Given the description of an element on the screen output the (x, y) to click on. 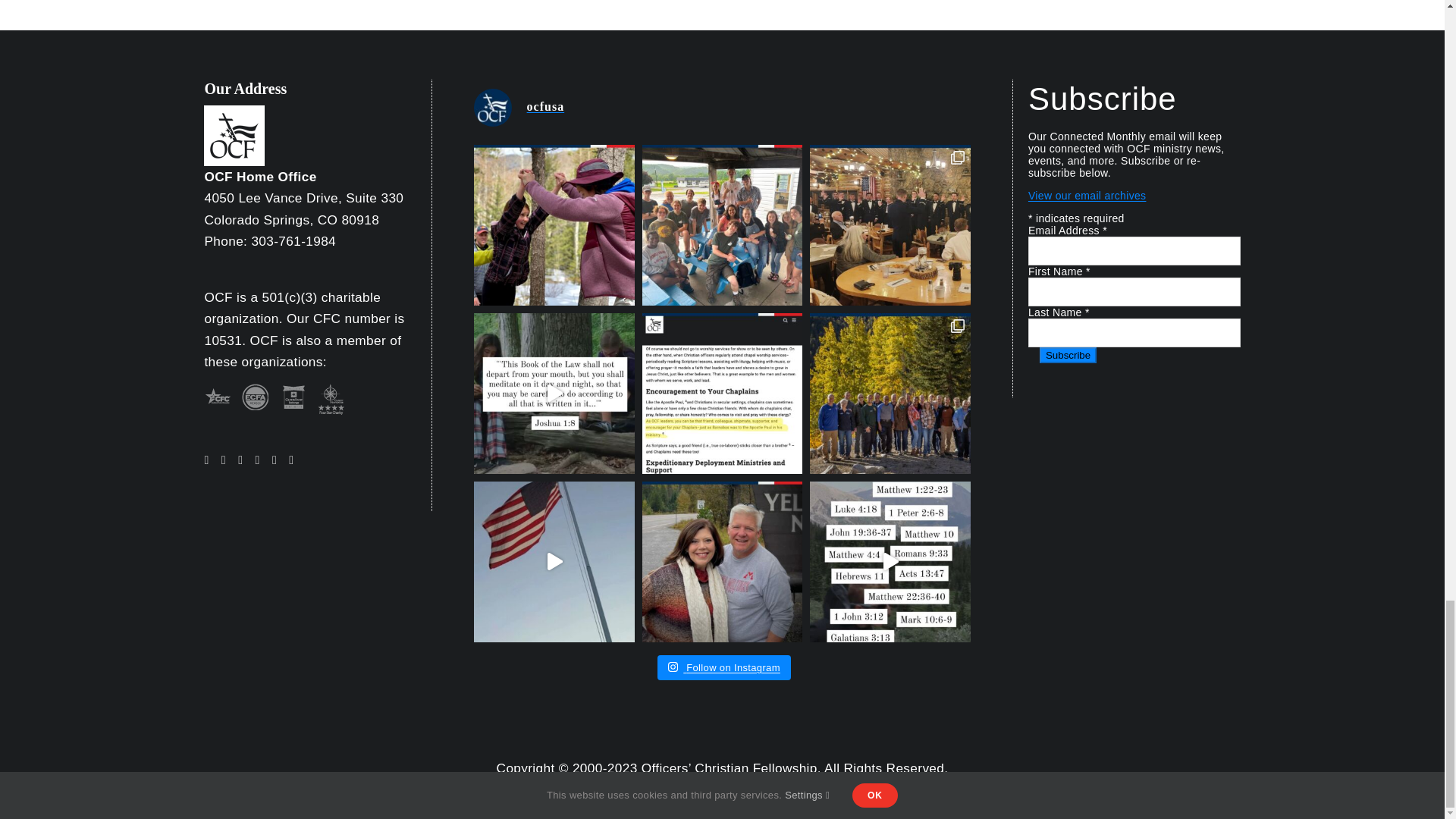
Subscribe (1067, 355)
